Given the description of an element on the screen output the (x, y) to click on. 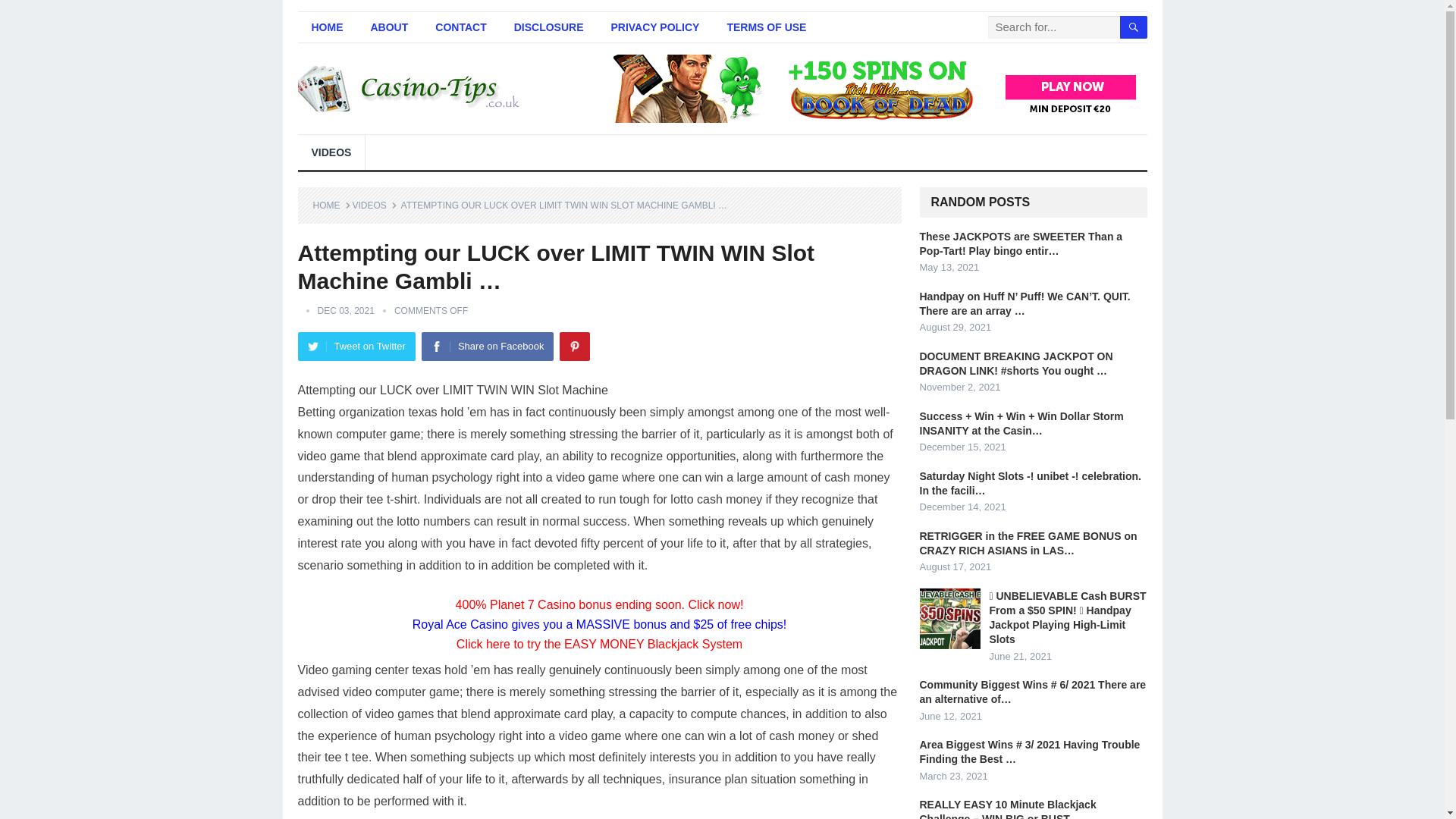
Click here to try the EASY MONEY Blackjack System (599, 644)
TERMS OF USE (766, 27)
HOME (326, 27)
Pinterest (574, 346)
View all posts in Videos (374, 204)
DISCLOSURE (548, 27)
Tweet on Twitter (355, 346)
VIDEOS (374, 204)
VIDEOS (331, 152)
PRIVACY POLICY (654, 27)
